Given the description of an element on the screen output the (x, y) to click on. 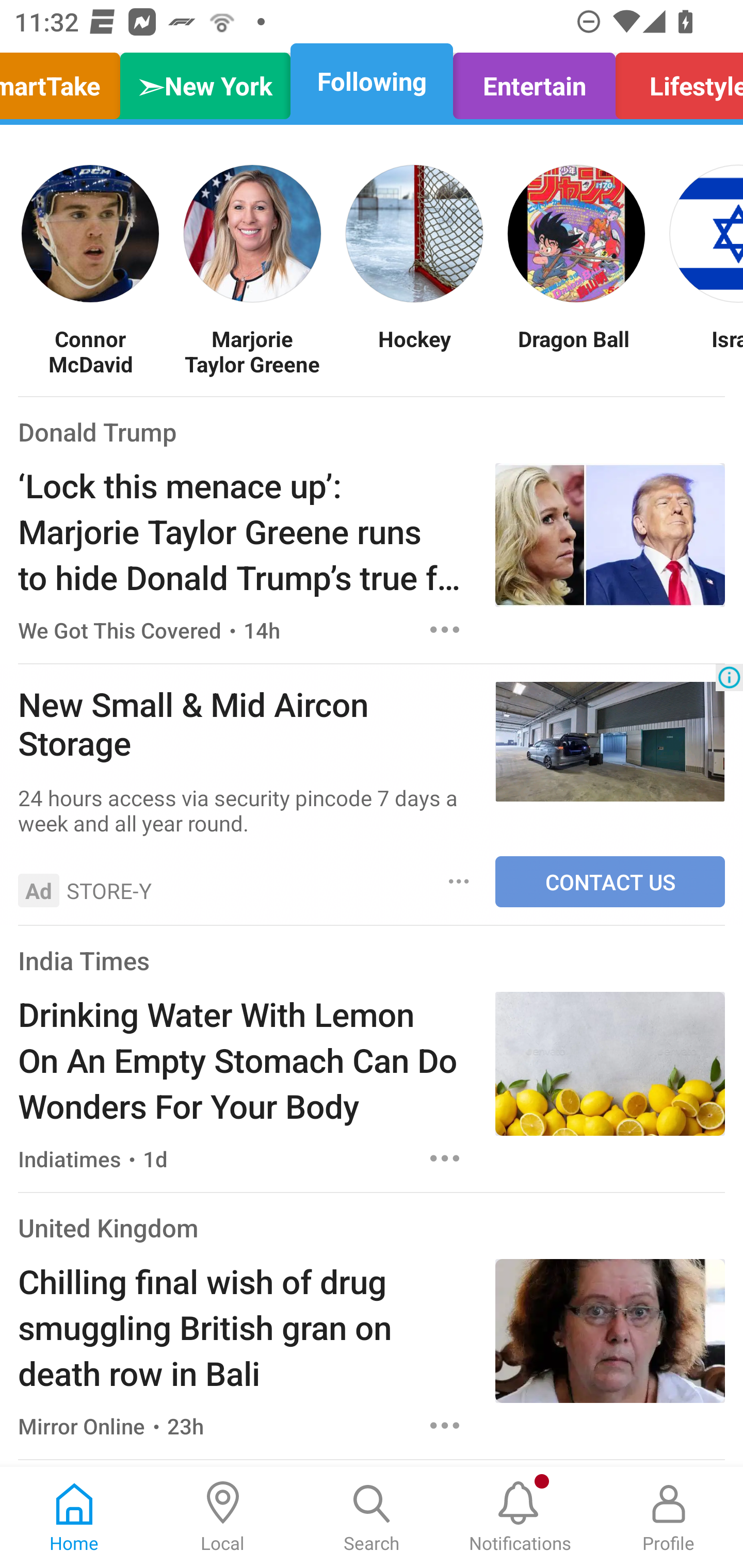
➣New York (205, 81)
Following (371, 81)
Entertain (534, 81)
Connor McDavid (89, 350)
Marjorie Taylor Greene (251, 350)
Hockey (413, 350)
Dragon Ball  (575, 350)
Donald Trump (97, 430)
Options (444, 629)
Ad Choices Icon (729, 677)
New Small & Mid Aircon Storage (247, 723)
CONTACT US (610, 881)
Options (459, 881)
STORE-Y (109, 890)
India Times (83, 959)
Options (444, 1158)
United Kingdom (107, 1227)
Options (444, 1425)
Local (222, 1517)
Search (371, 1517)
Notifications, New notification Notifications (519, 1517)
Profile (668, 1517)
